Given the description of an element on the screen output the (x, y) to click on. 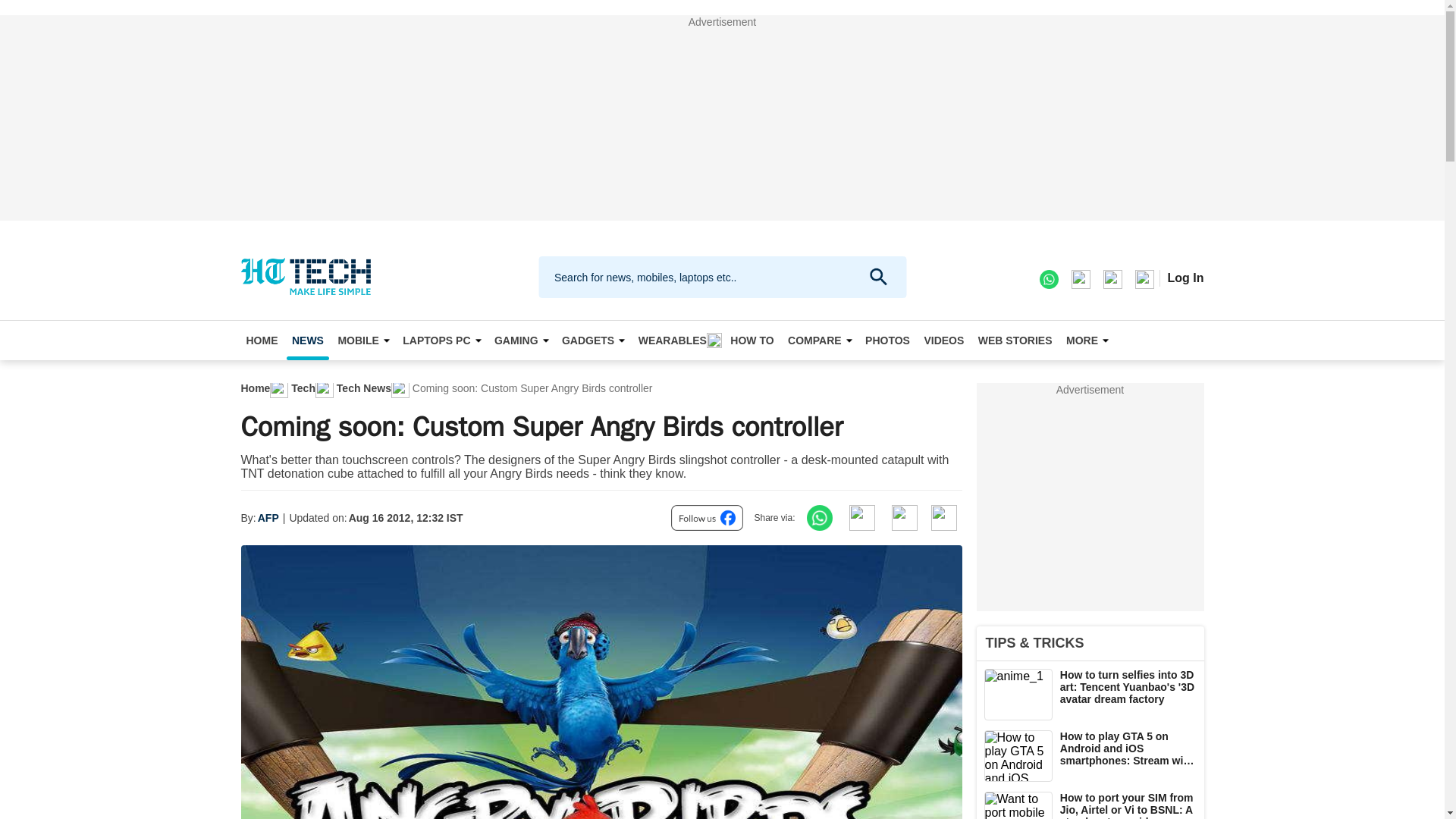
GADGETS (592, 340)
GAMING (521, 340)
HOW TO (751, 340)
youtube (1143, 278)
NEWS (307, 340)
twitter (1111, 278)
LAPTOPS PC (440, 340)
WEARABLES (677, 340)
Get to know more about News from India and around the world. (307, 340)
COMPARE (820, 340)
MOBILE (362, 340)
HOME (262, 340)
